Given the description of an element on the screen output the (x, y) to click on. 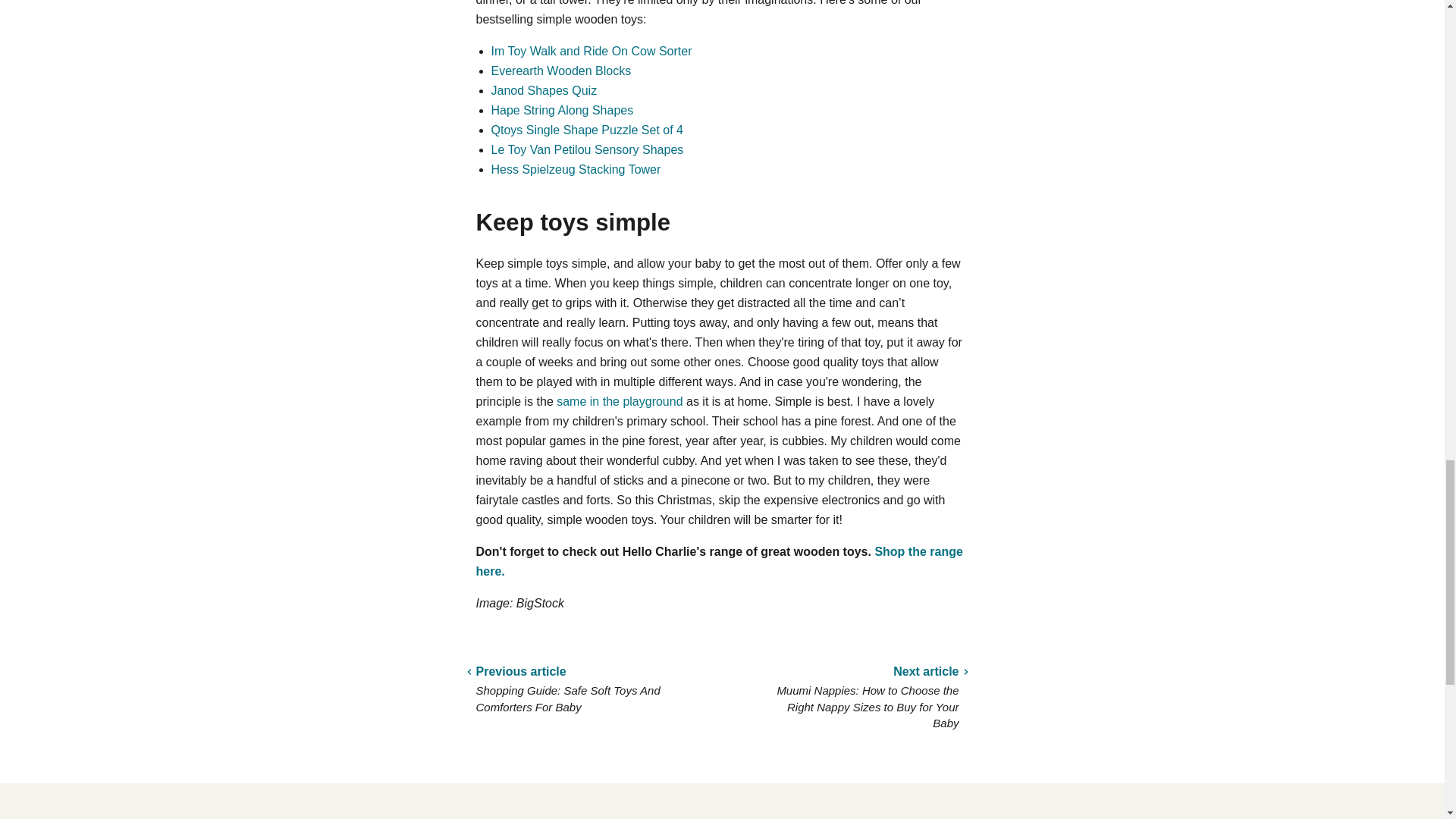
Le Toy Van Petilou Sensory Shapes (588, 149)
Everearth Wooden Blocks (561, 70)
Janod Shapes Quiz (544, 90)
Qtoys Single Shape Puzzle Set of 4 (587, 129)
Hess Spielzeug Stacking Tower (576, 169)
Hape String Along Shapes (562, 110)
Im Toy Walk and Ride On Cow Sorter (592, 51)
